Given the description of an element on the screen output the (x, y) to click on. 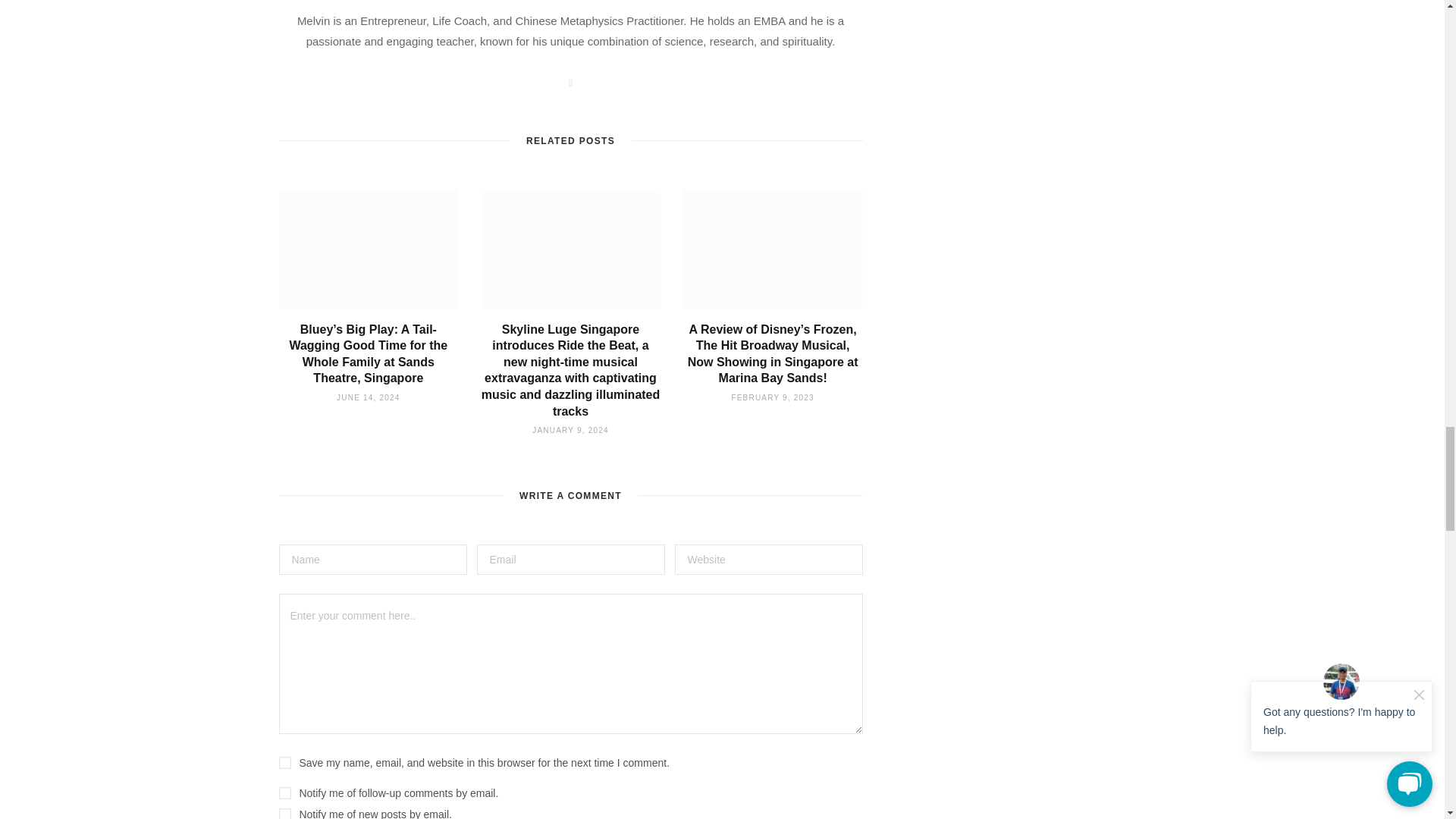
yes (285, 762)
subscribe (285, 793)
subscribe (285, 813)
